Given the description of an element on the screen output the (x, y) to click on. 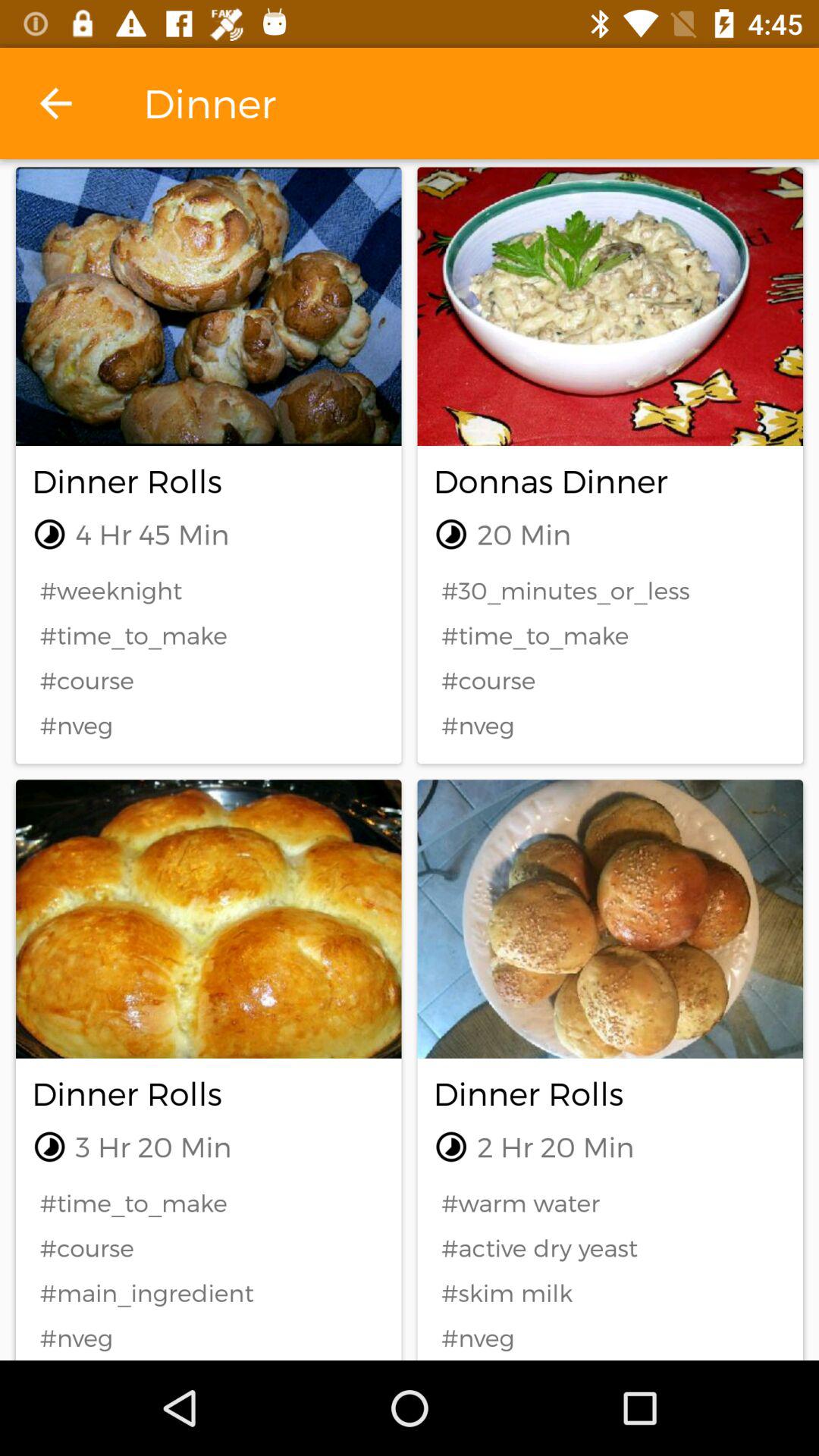
turn off the item below the 2 hr 20 item (610, 1202)
